Given the description of an element on the screen output the (x, y) to click on. 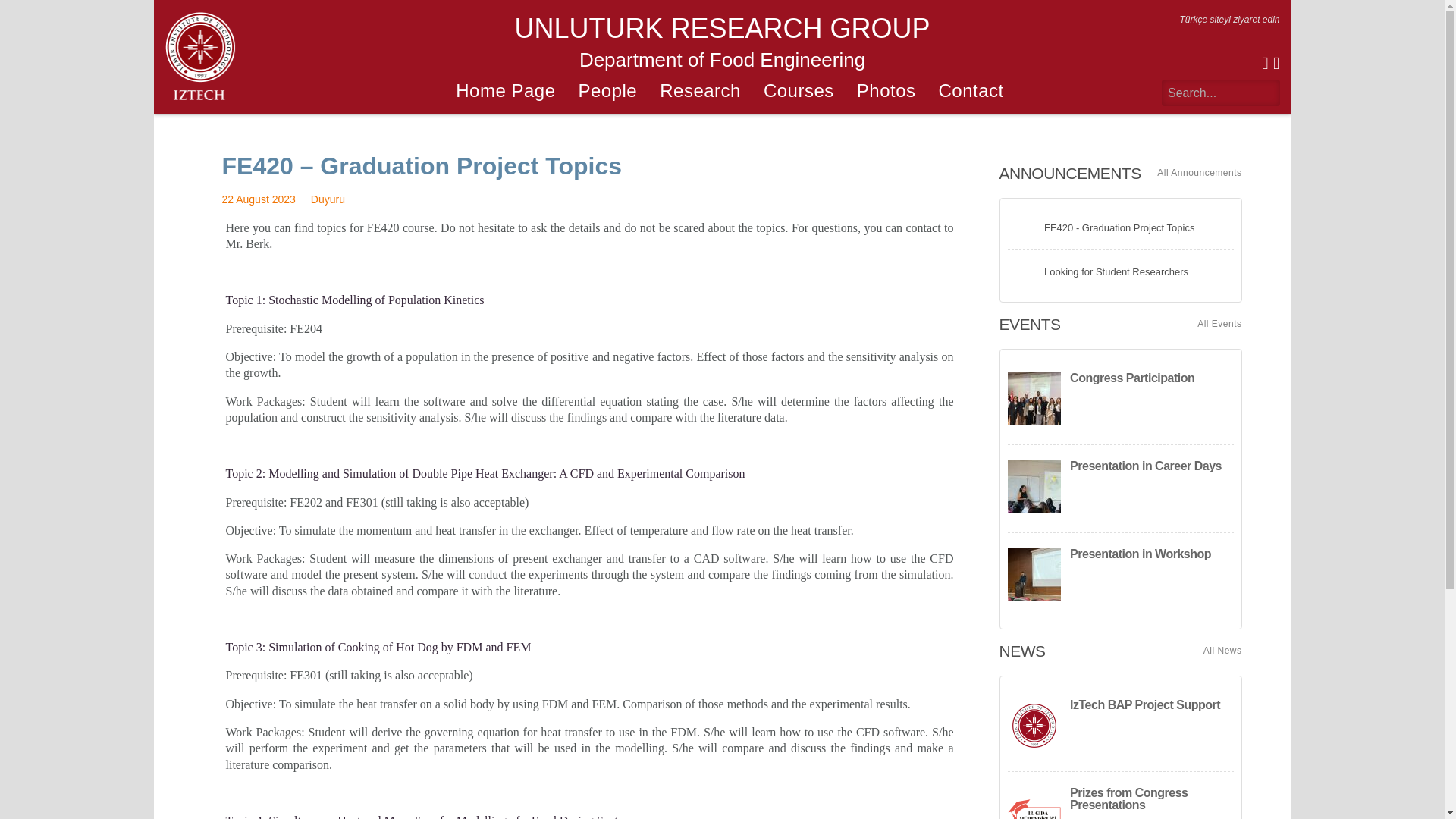
All Events (1218, 324)
Home Page (509, 90)
Looking for Student Researchers (1120, 271)
Presentation in Career Days (1120, 488)
All Announcements (1199, 172)
Congress Participation (1120, 400)
People (611, 90)
Research (703, 90)
FE420 - Graduation Project Topics (1120, 227)
Contact (975, 90)
Photos (889, 90)
Presentation in Workshop (1120, 576)
Courses (801, 90)
